Given the description of an element on the screen output the (x, y) to click on. 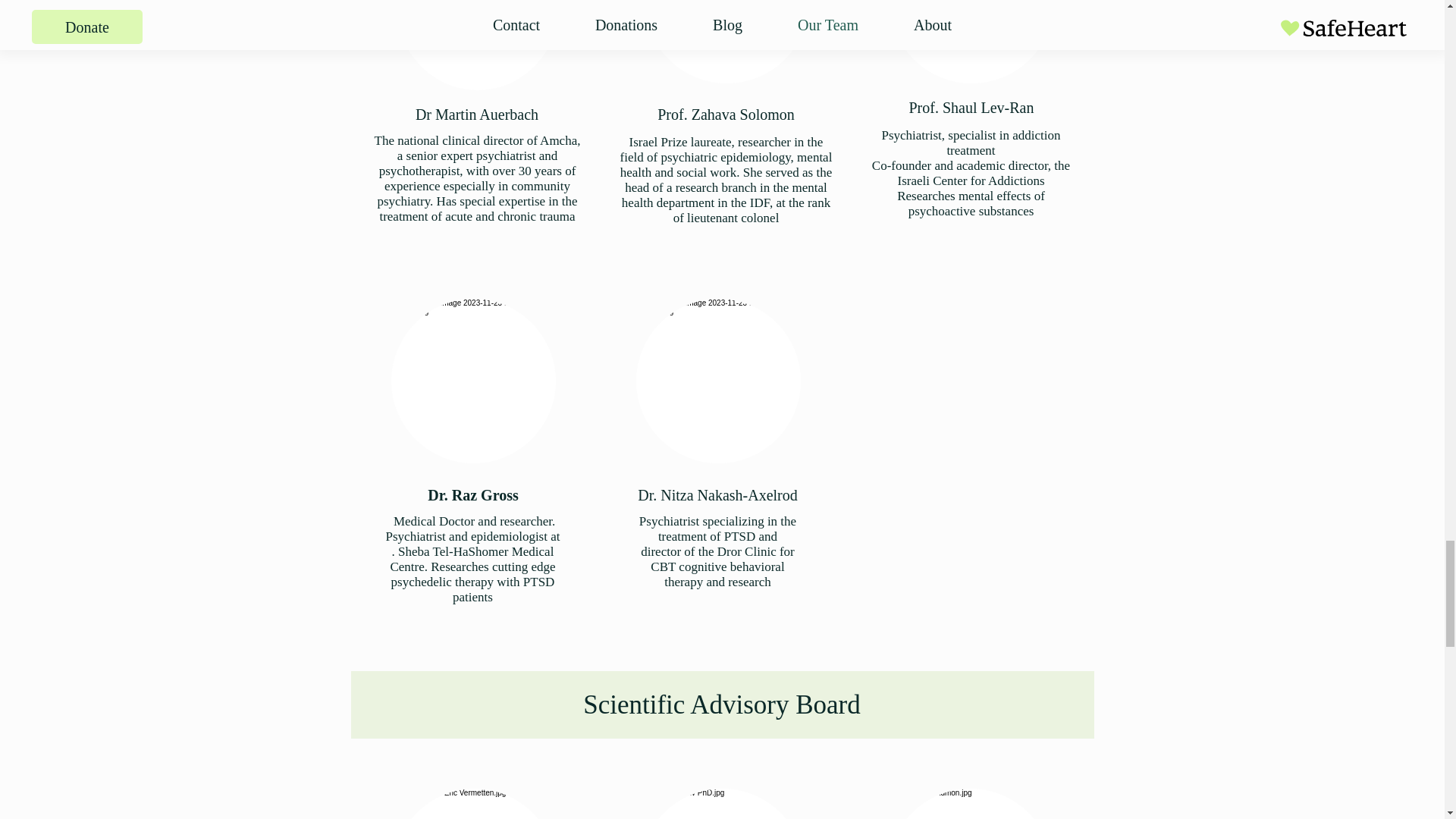
Dr Martin Auerbach (476, 114)
